Given the description of an element on the screen output the (x, y) to click on. 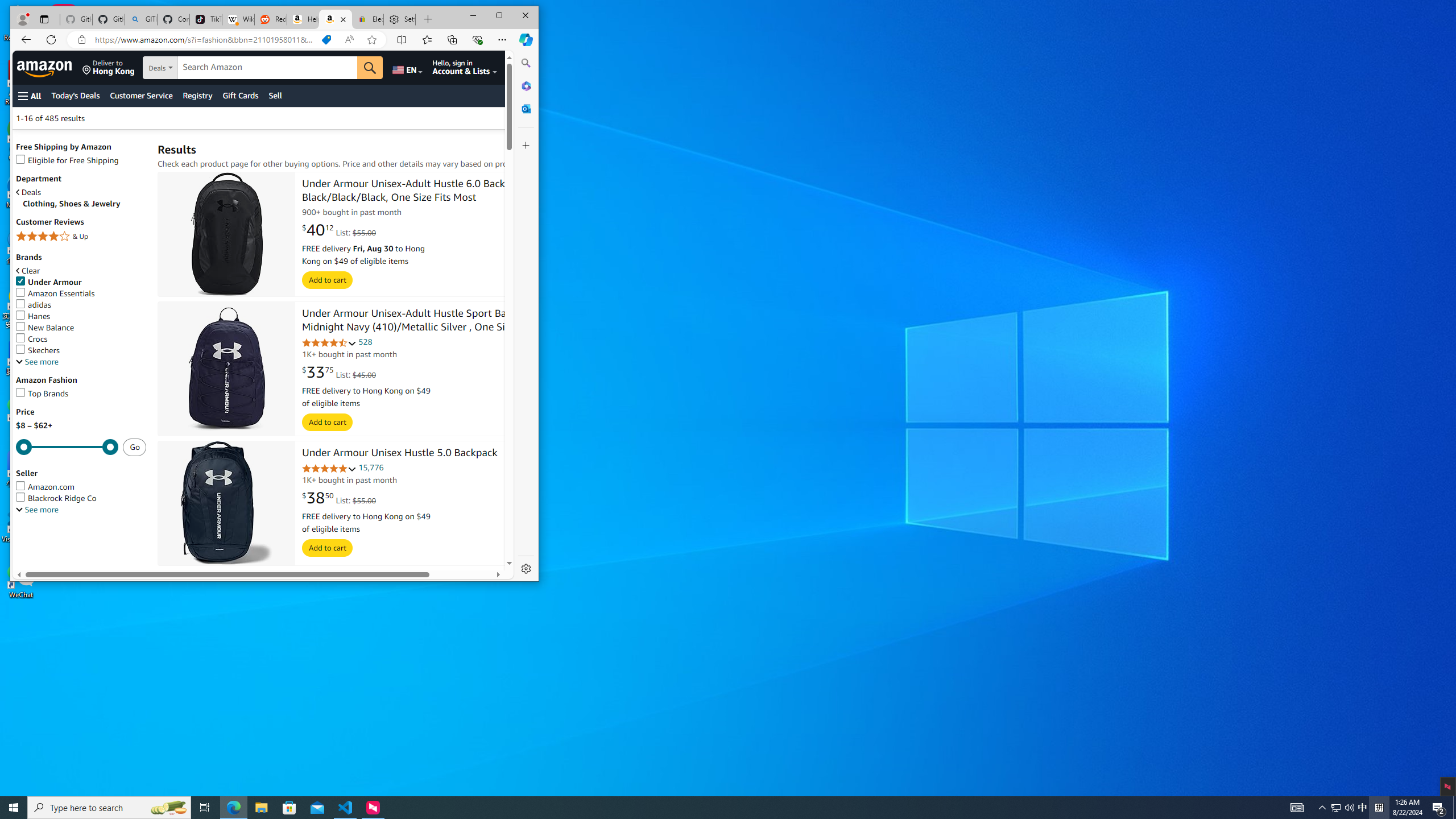
Go - Submit price range (134, 446)
Add to cart (327, 547)
Hello, sign in Account & Lists (464, 67)
$33.75 List: $45.00 (339, 371)
Amazon.com (1362, 807)
Sort by: (335, 19)
Q2790: 100% (544, 118)
Start (1349, 807)
